Given the description of an element on the screen output the (x, y) to click on. 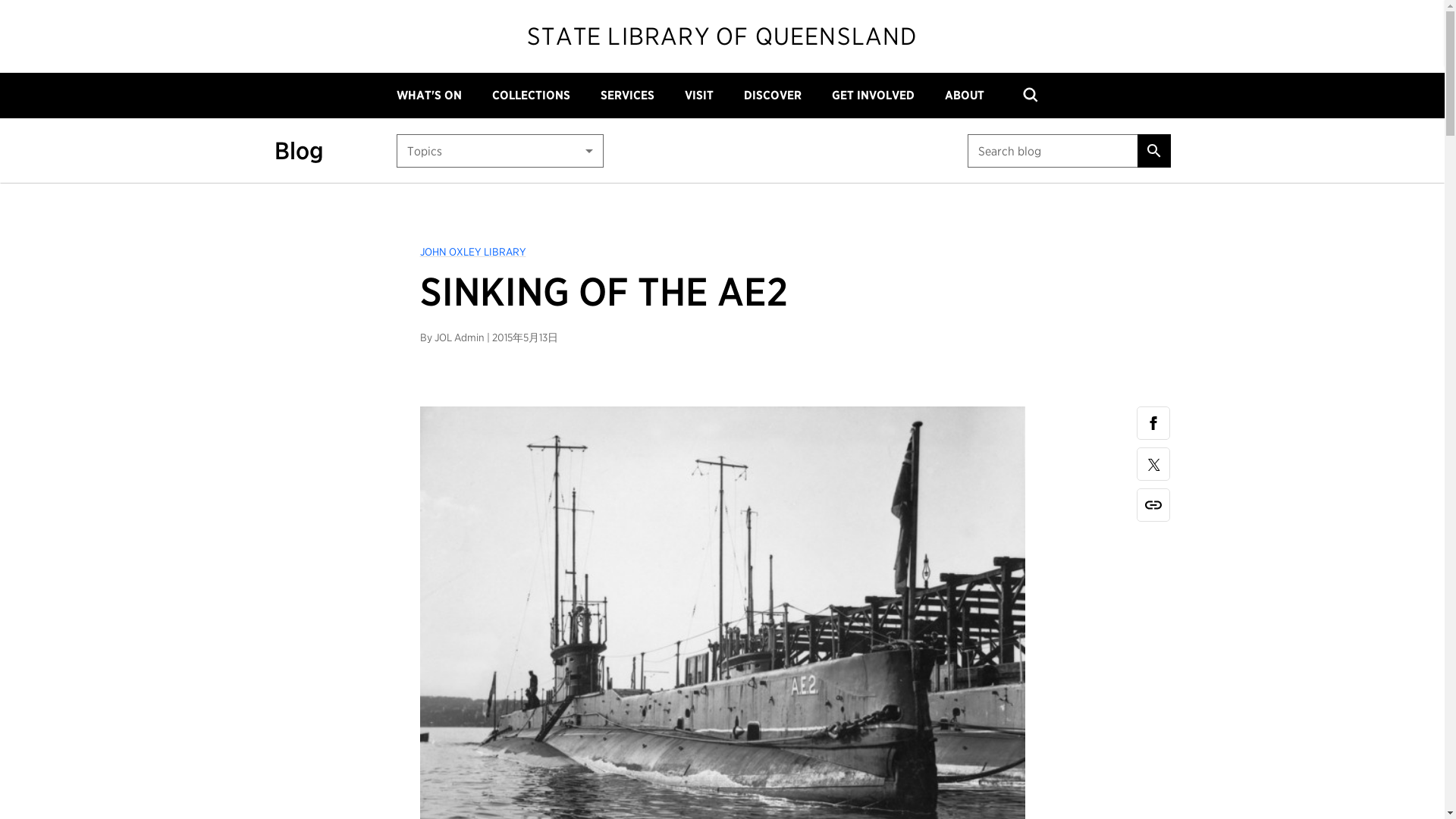
COLLECTIONS (531, 94)
DISCOVER (773, 94)
STATE LIBRARY OF QUEENSLAND (722, 35)
SERVICES (626, 94)
WHAT'S ON (428, 94)
